Given the description of an element on the screen output the (x, y) to click on. 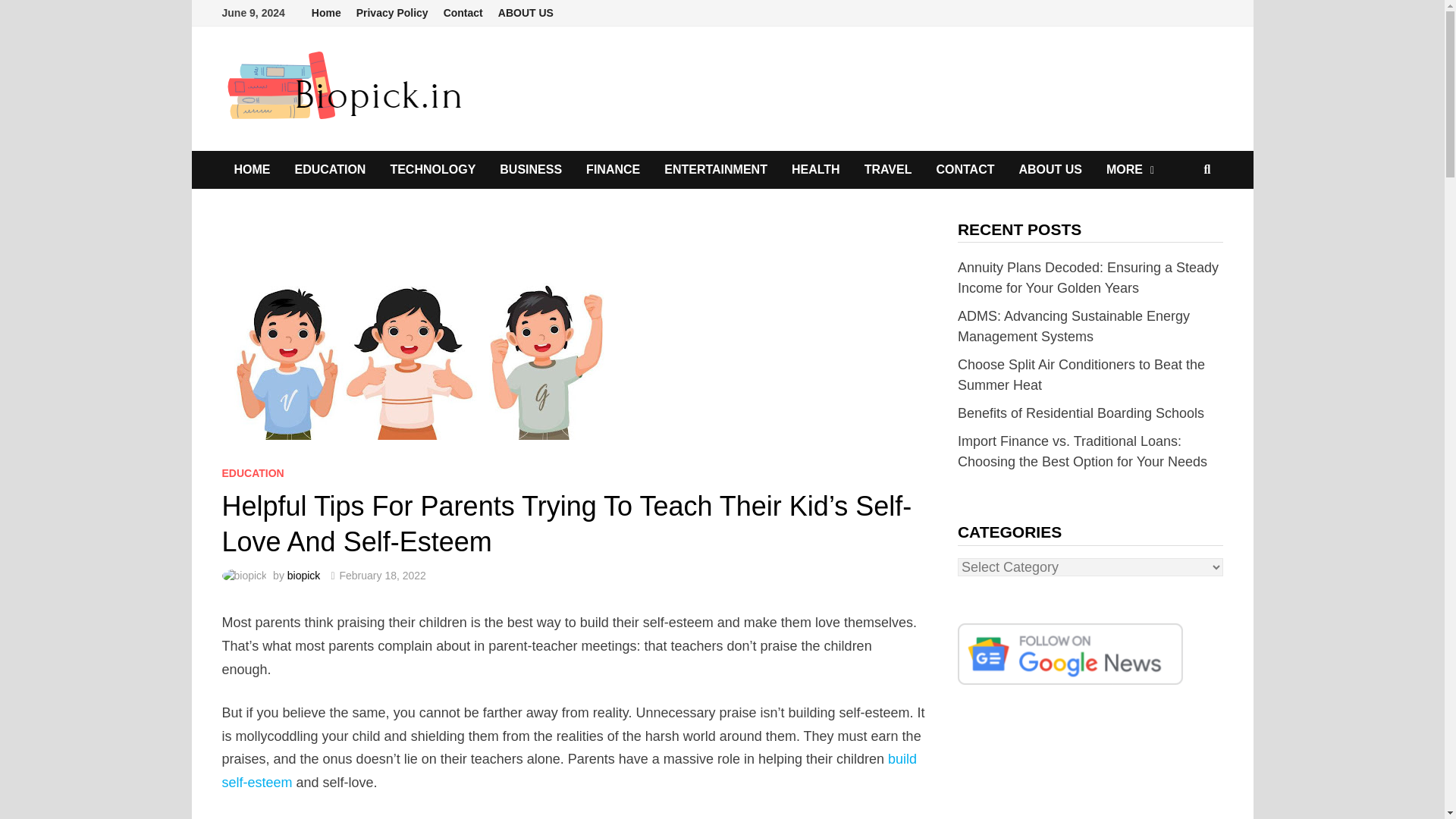
HOME (251, 169)
CONTACT (964, 169)
BUSINESS (530, 169)
EDUCATION (329, 169)
ABOUT US (1050, 169)
TECHNOLOGY (432, 169)
Home (326, 13)
ENTERTAINMENT (715, 169)
MORE (1130, 169)
TRAVEL (887, 169)
FINANCE (612, 169)
ABOUT US (525, 13)
HEALTH (814, 169)
Contact (462, 13)
Privacy Policy (392, 13)
